Given the description of an element on the screen output the (x, y) to click on. 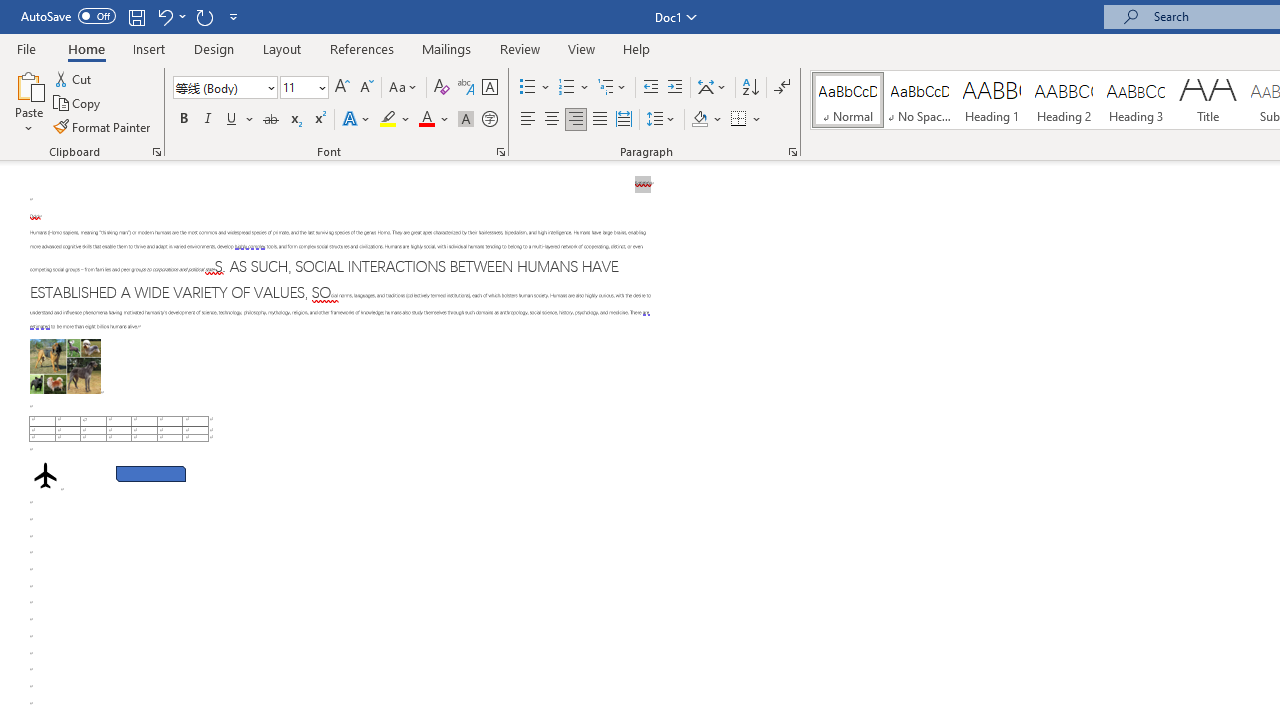
Font Color Red (426, 119)
Undo Paragraph Alignment (164, 15)
